Given the description of an element on the screen output the (x, y) to click on. 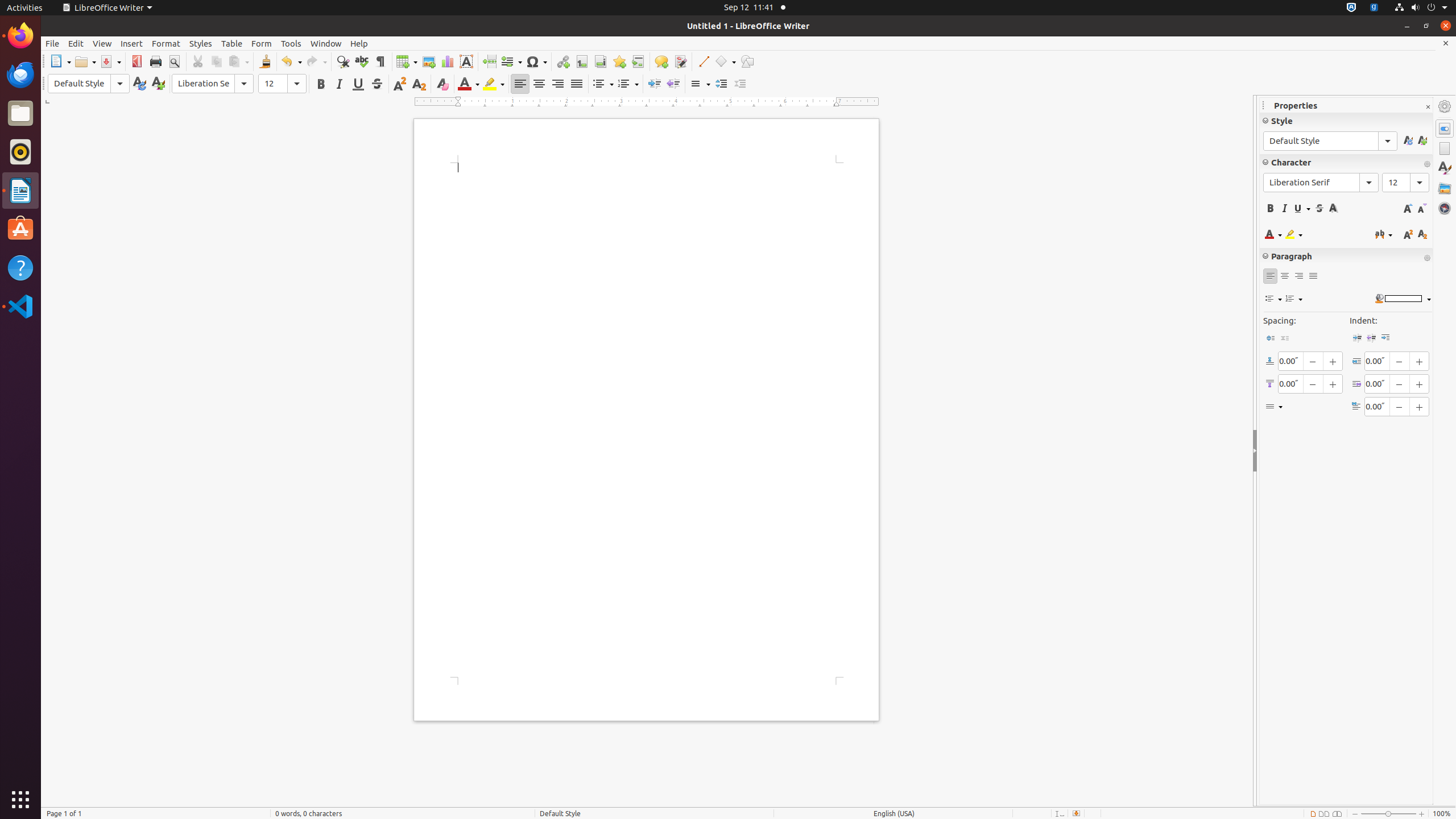
Decrease Element type: push-button (739, 83)
Show Applications Element type: toggle-button (20, 799)
Font Color Element type: push-button (468, 83)
Save Element type: push-button (109, 61)
Chart Element type: push-button (446, 61)
